Given the description of an element on the screen output the (x, y) to click on. 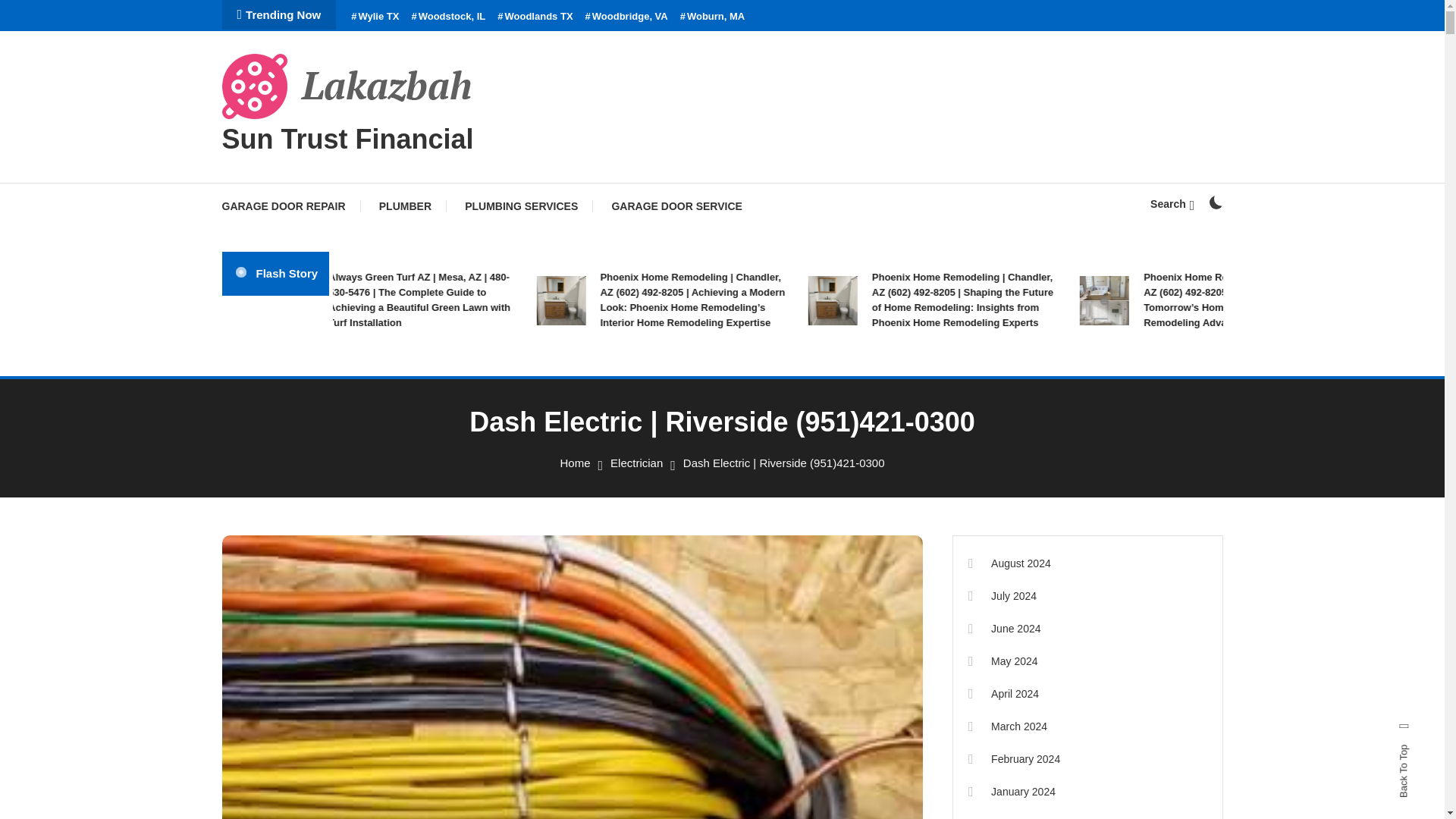
Home (574, 462)
Woodstock, IL (447, 16)
PLUMBING SERVICES (520, 206)
Woburn, MA (712, 16)
Woodbridge, VA (626, 16)
Electrician (636, 462)
Sun Trust Financial (347, 138)
Search (768, 434)
Wylie TX (374, 16)
Woodlands TX (534, 16)
